Given the description of an element on the screen output the (x, y) to click on. 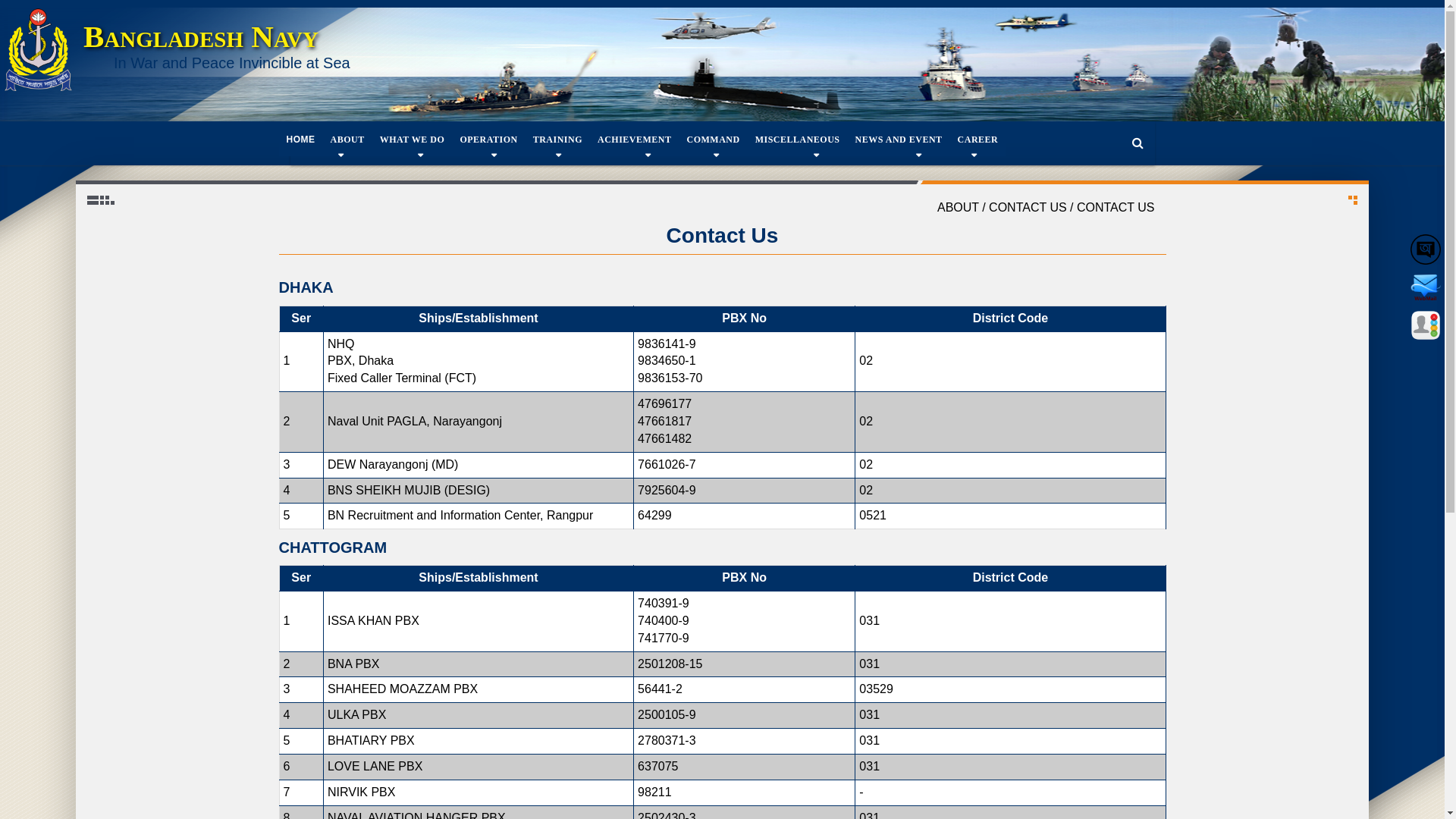
Search Element type: hover (1137, 143)
NEWS AND EVENT Element type: text (898, 139)
OPERATION Element type: text (487, 139)
MISCELLANEOUS Element type: text (797, 139)
ABOUT Element type: text (347, 139)
WHAT WE DO Element type: text (412, 139)
CAREER Element type: text (978, 139)
ACHIEVEMENT Element type: text (634, 139)
Bangladesh Navy Element type: text (200, 35)
TRAINING Element type: text (557, 139)
COMMAND Element type: text (713, 139)
HOME Element type: text (301, 139)
